Given the description of an element on the screen output the (x, y) to click on. 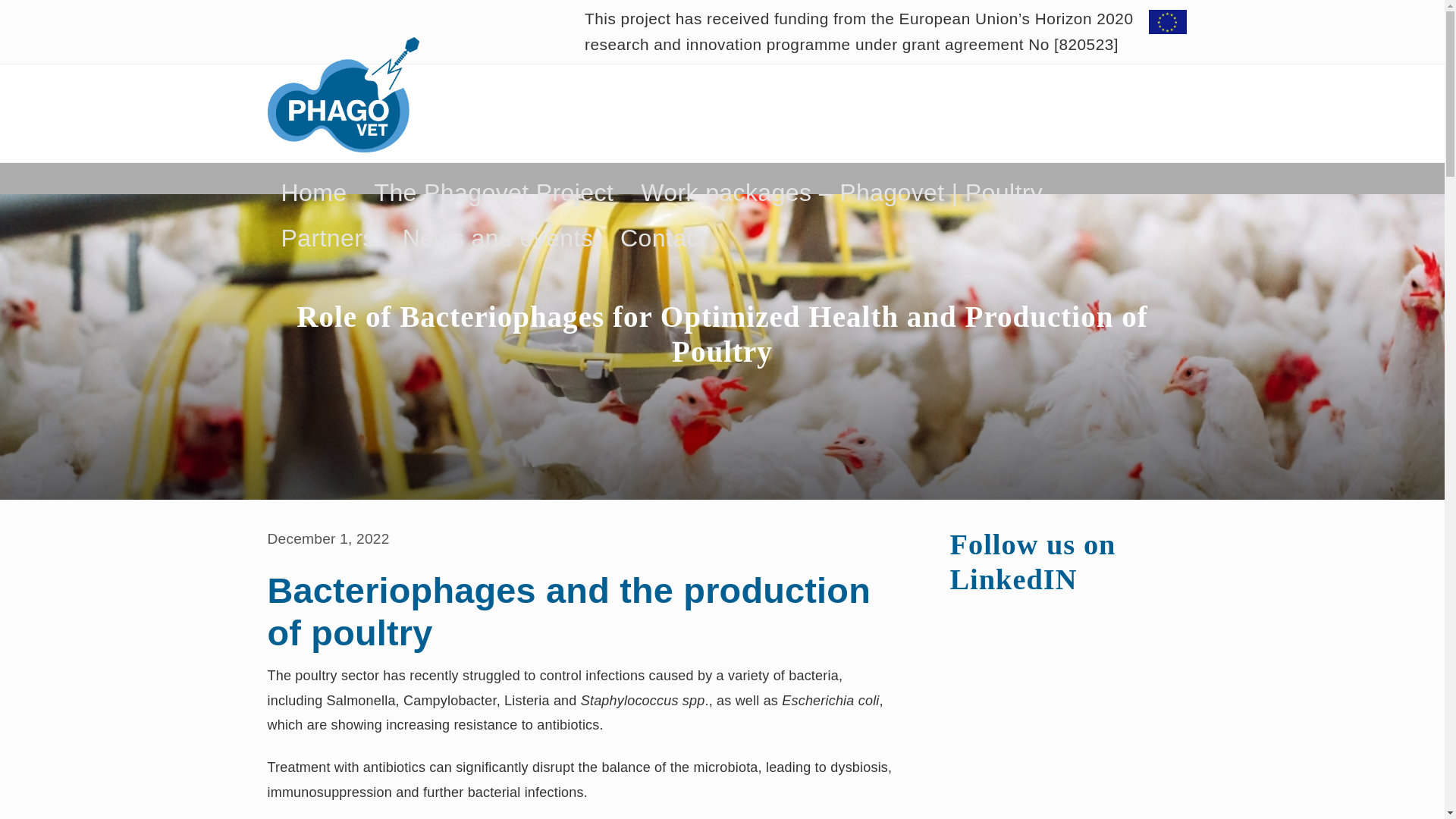
Partners (327, 238)
Contact (663, 238)
News and events (497, 238)
Home (312, 192)
The Phagovet Project (493, 192)
